Given the description of an element on the screen output the (x, y) to click on. 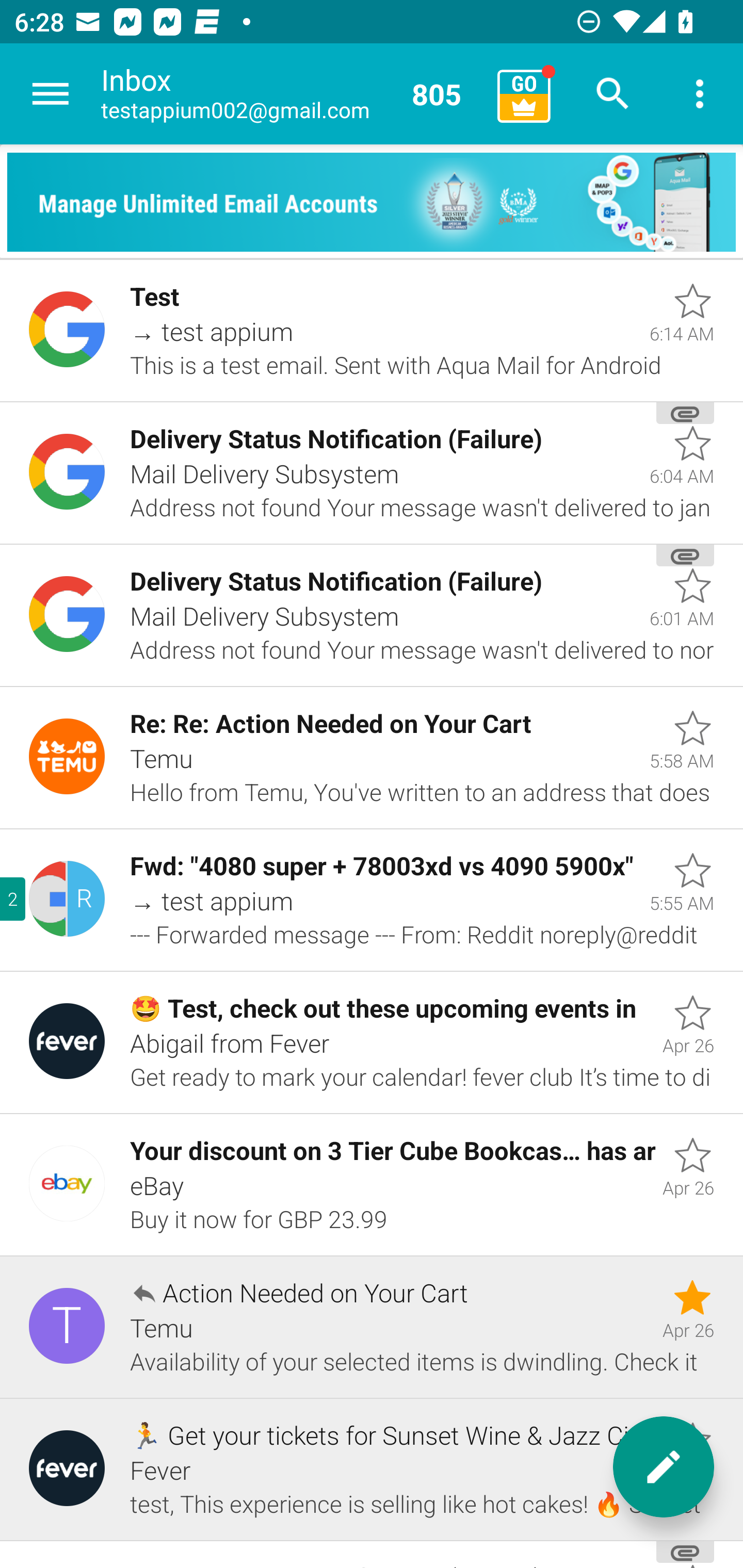
Navigate up (50, 93)
Inbox testappium002@gmail.com 805 (291, 93)
Search (612, 93)
More options (699, 93)
New message (663, 1466)
